Given the description of an element on the screen output the (x, y) to click on. 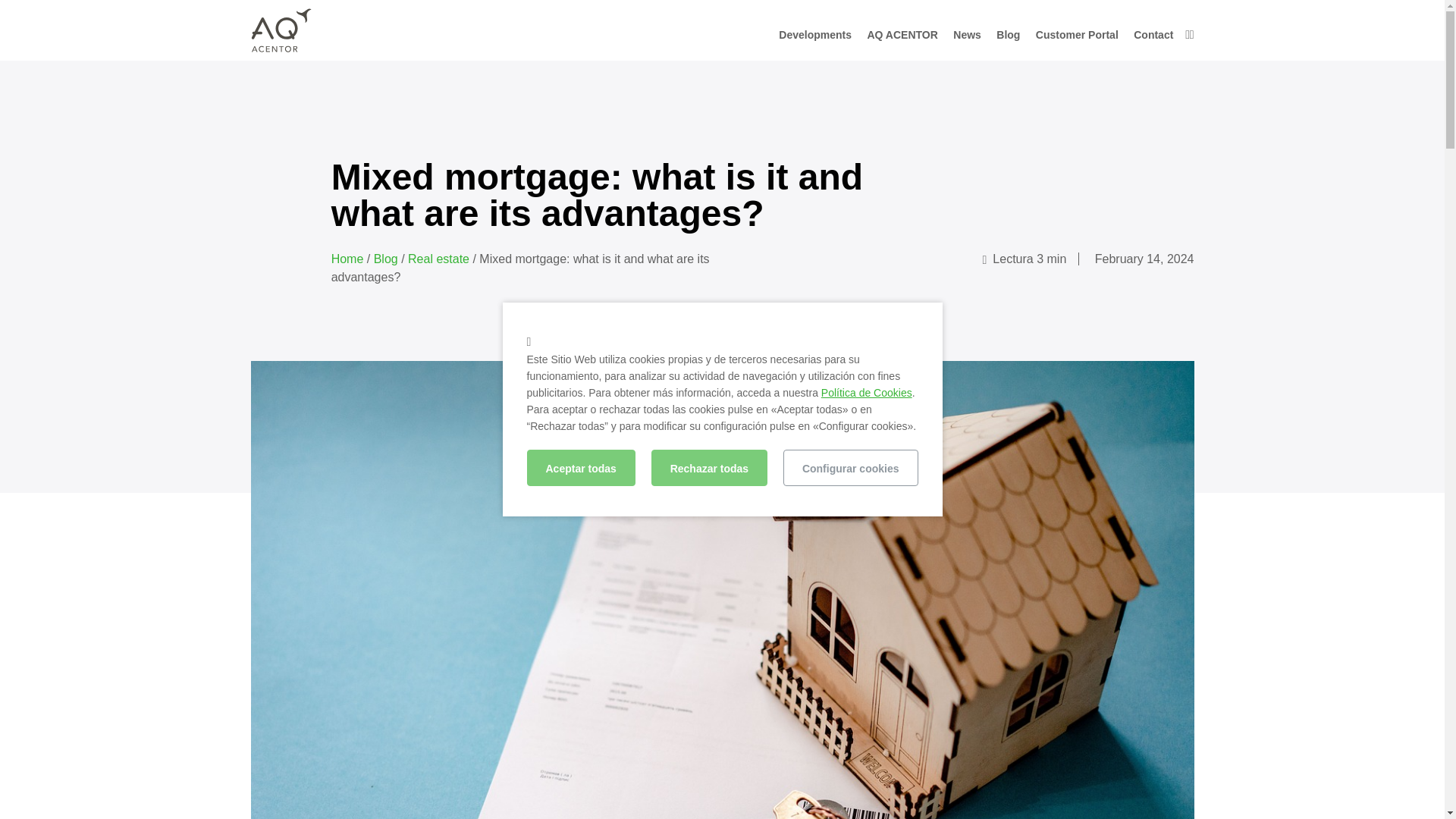
Real estate (437, 258)
Customer Portal (1076, 39)
Home (262, 81)
News (967, 39)
Real estate (331, 81)
Contact (1153, 39)
Home (347, 258)
AQ ACENTOR (901, 39)
Blog (385, 258)
Blog (291, 81)
Developments (814, 39)
Blog (1007, 39)
